Given the description of an element on the screen output the (x, y) to click on. 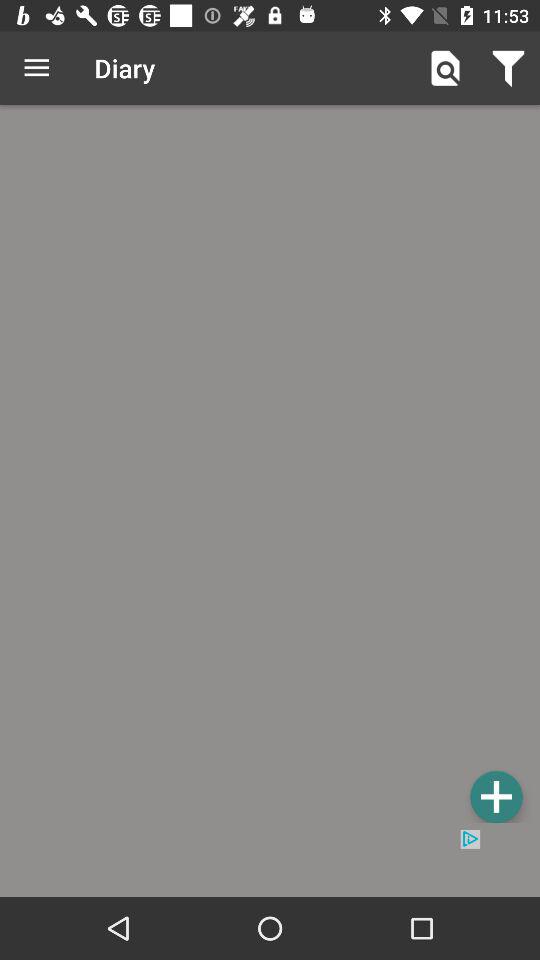
add new entry (496, 796)
